Given the description of an element on the screen output the (x, y) to click on. 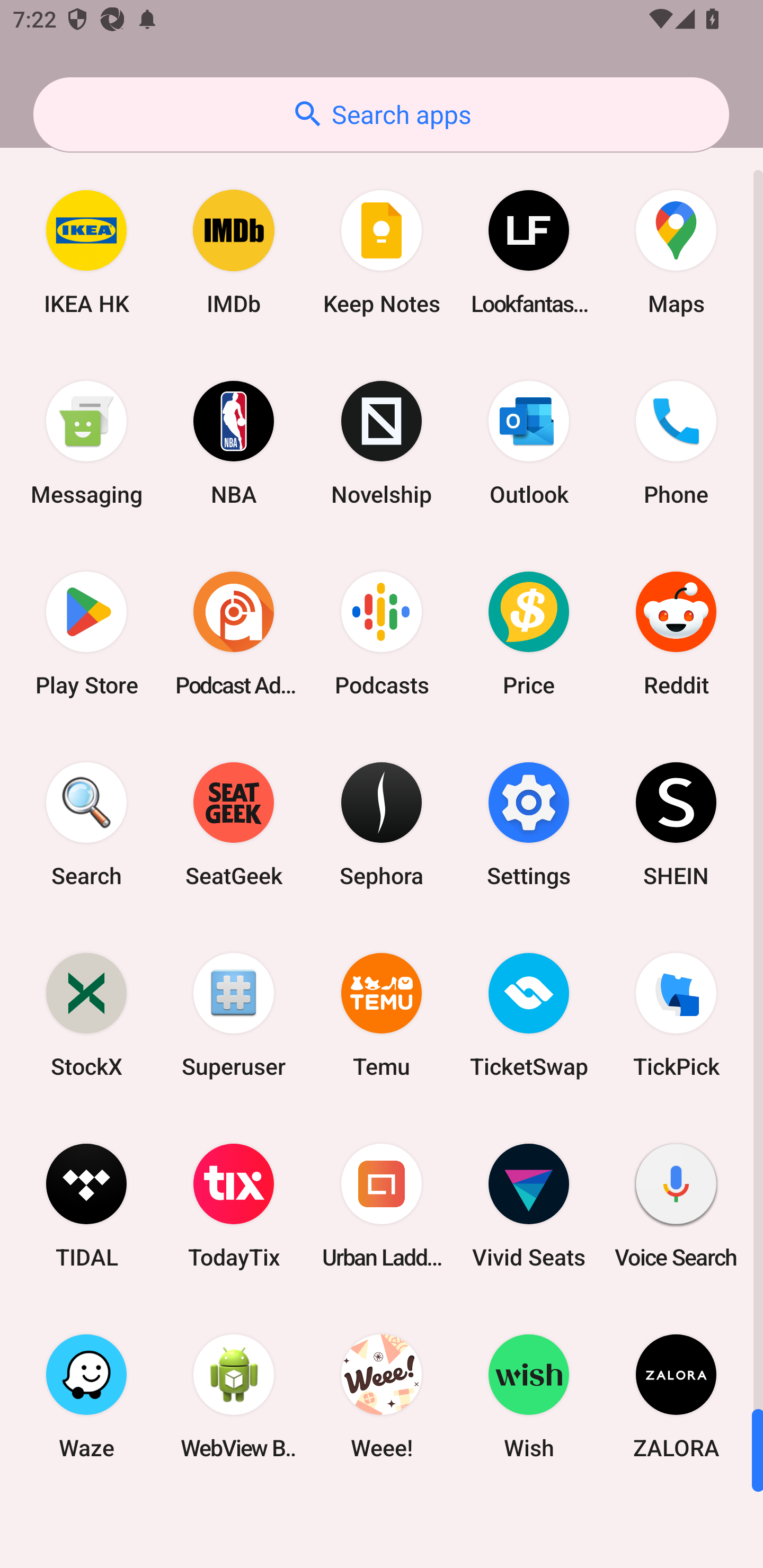
  Search apps (381, 114)
IKEA HK (86, 252)
IMDb (233, 252)
Keep Notes (381, 252)
Lookfantastic (528, 252)
Maps (676, 252)
Messaging (86, 442)
NBA (233, 442)
Novelship (381, 442)
Outlook (528, 442)
Phone (676, 442)
Play Store (86, 633)
Podcast Addict (233, 633)
Podcasts (381, 633)
Price (528, 633)
Reddit (676, 633)
Search (86, 823)
SeatGeek (233, 823)
Sephora (381, 823)
Settings (528, 823)
SHEIN (676, 823)
StockX (86, 1014)
Superuser (233, 1014)
Temu (381, 1014)
TicketSwap (528, 1014)
TickPick (676, 1014)
TIDAL (86, 1205)
TodayTix (233, 1205)
Urban Ladder (381, 1205)
Vivid Seats (528, 1205)
Voice Search (676, 1205)
Waze (86, 1396)
WebView Browser Tester (233, 1396)
Weee! (381, 1396)
Wish (528, 1396)
ZALORA (676, 1396)
